Given the description of an element on the screen output the (x, y) to click on. 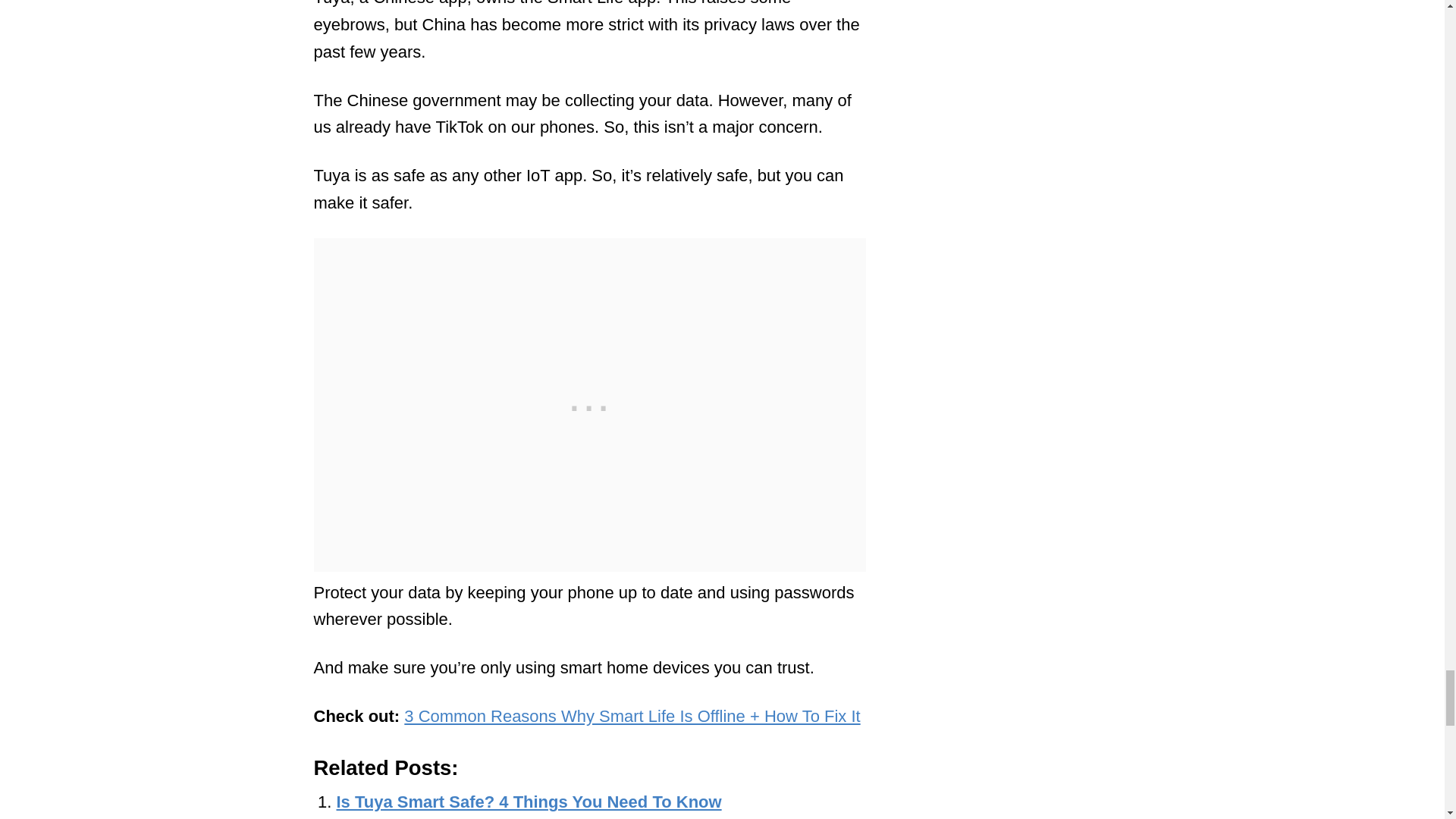
Is Tuya Smart Safe? 4 Things You Need To Know (529, 801)
